Given the description of an element on the screen output the (x, y) to click on. 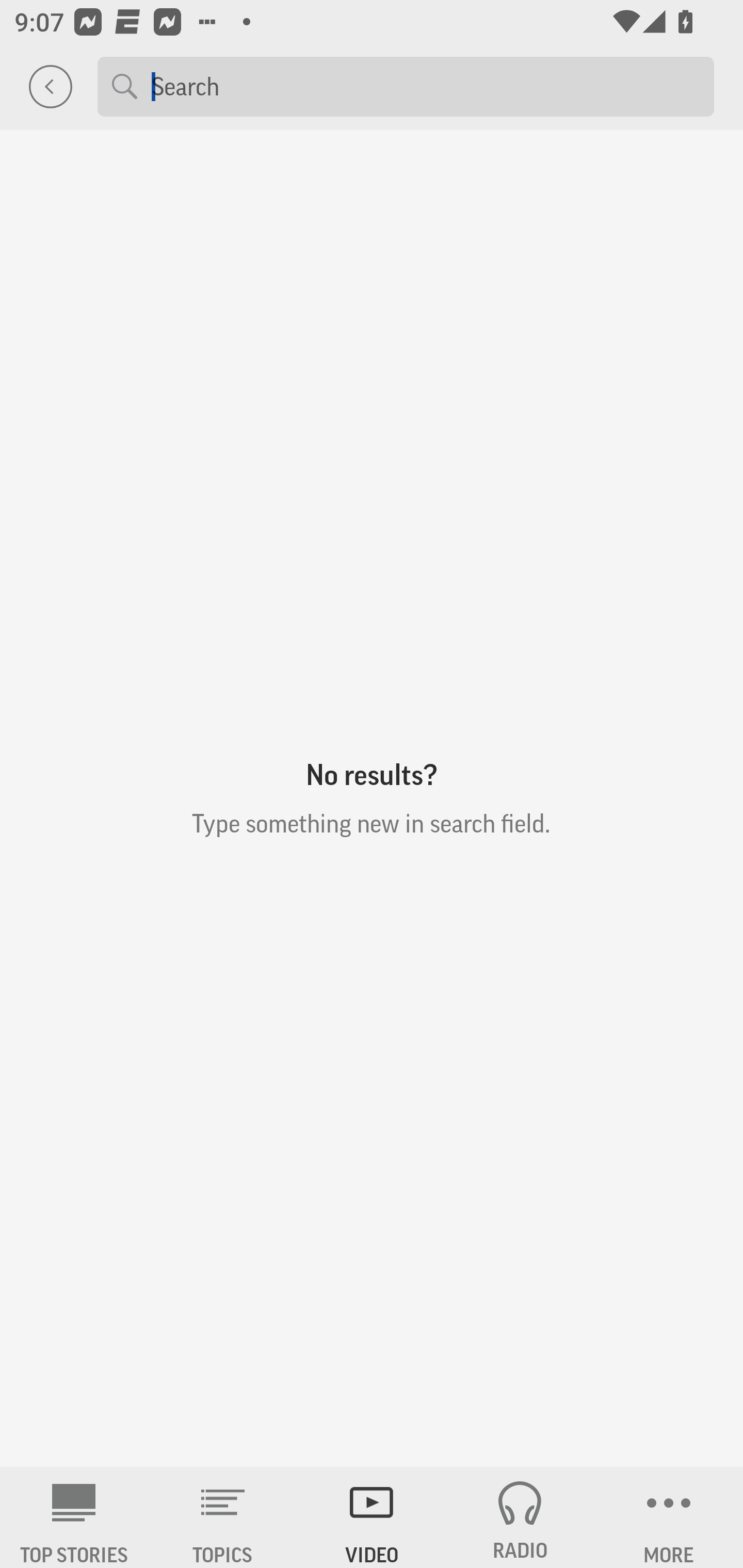
Search (425, 86)
AP News TOP STORIES (74, 1517)
TOPICS (222, 1517)
VIDEO (371, 1517)
RADIO (519, 1517)
MORE (668, 1517)
